Given the description of an element on the screen output the (x, y) to click on. 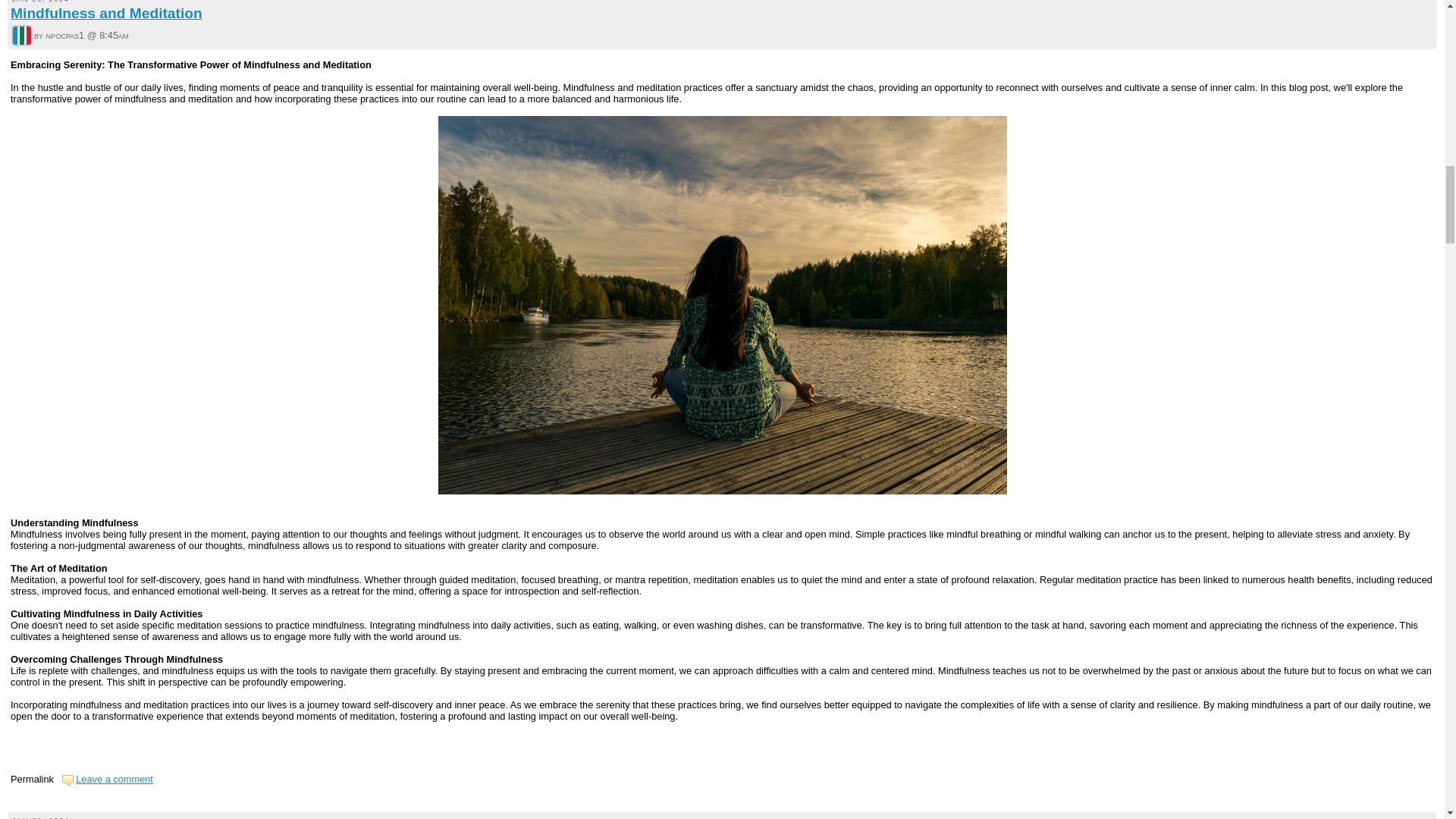
View profile of npocpas1 (21, 36)
Mindfulness and Meditation (106, 12)
npocpas1 (21, 35)
